Given the description of an element on the screen output the (x, y) to click on. 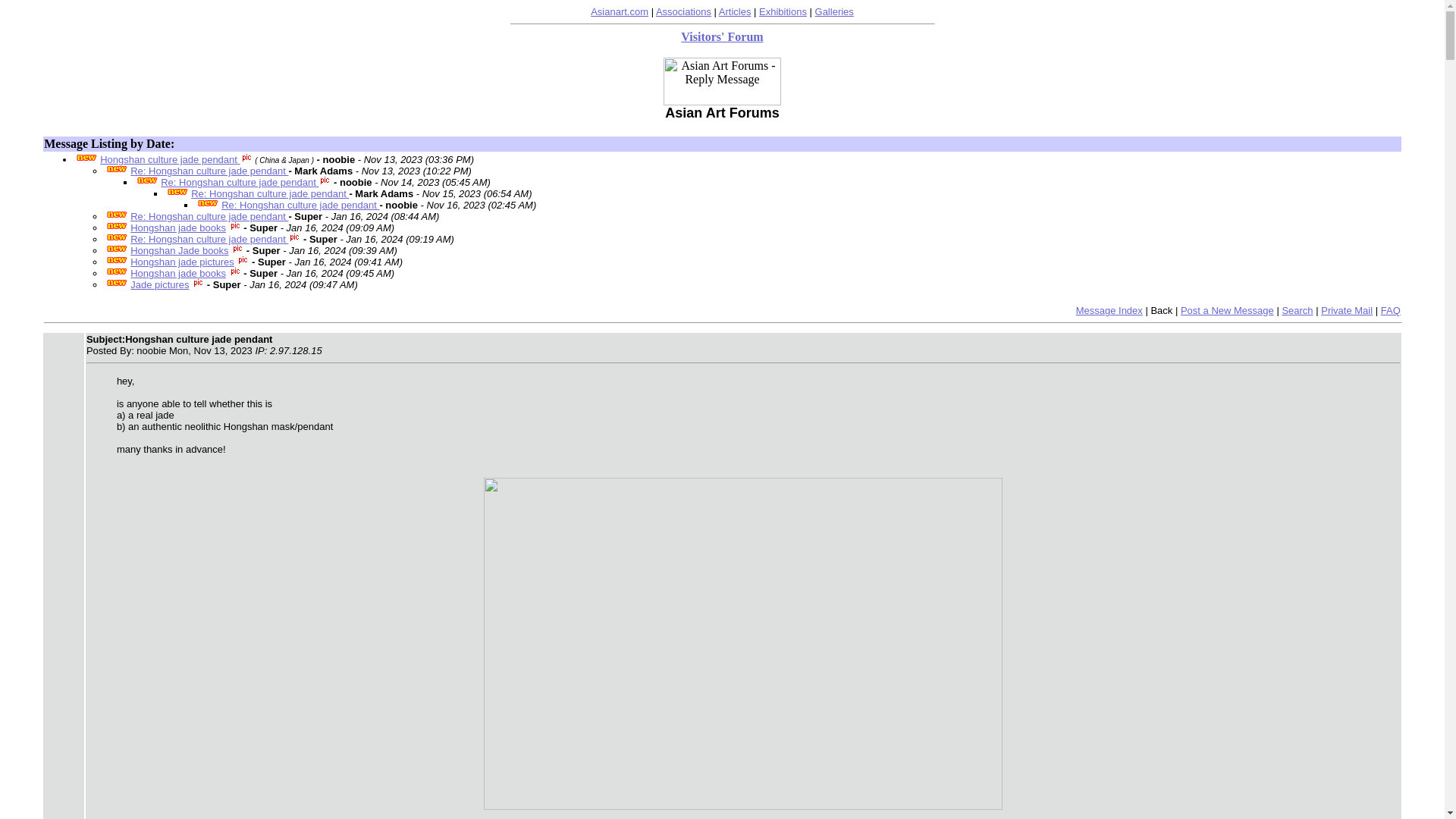
Re: Hongshan culture jade pendant (209, 238)
Hongshan jade books (178, 273)
Private Mail (1346, 310)
Visitors' Forum (721, 36)
Back (1161, 310)
FAQ (1390, 310)
Re: Hongshan culture jade pendant (209, 215)
Re: Hongshan culture jade pendant (269, 193)
Re: Hongshan culture jade pendant (209, 170)
Articles (735, 11)
Jade pictures (160, 284)
Hongshan jade books (178, 227)
Hongshan culture jade pendant (170, 159)
Exhibitions (782, 11)
Hongshan Jade books (179, 250)
